Given the description of an element on the screen output the (x, y) to click on. 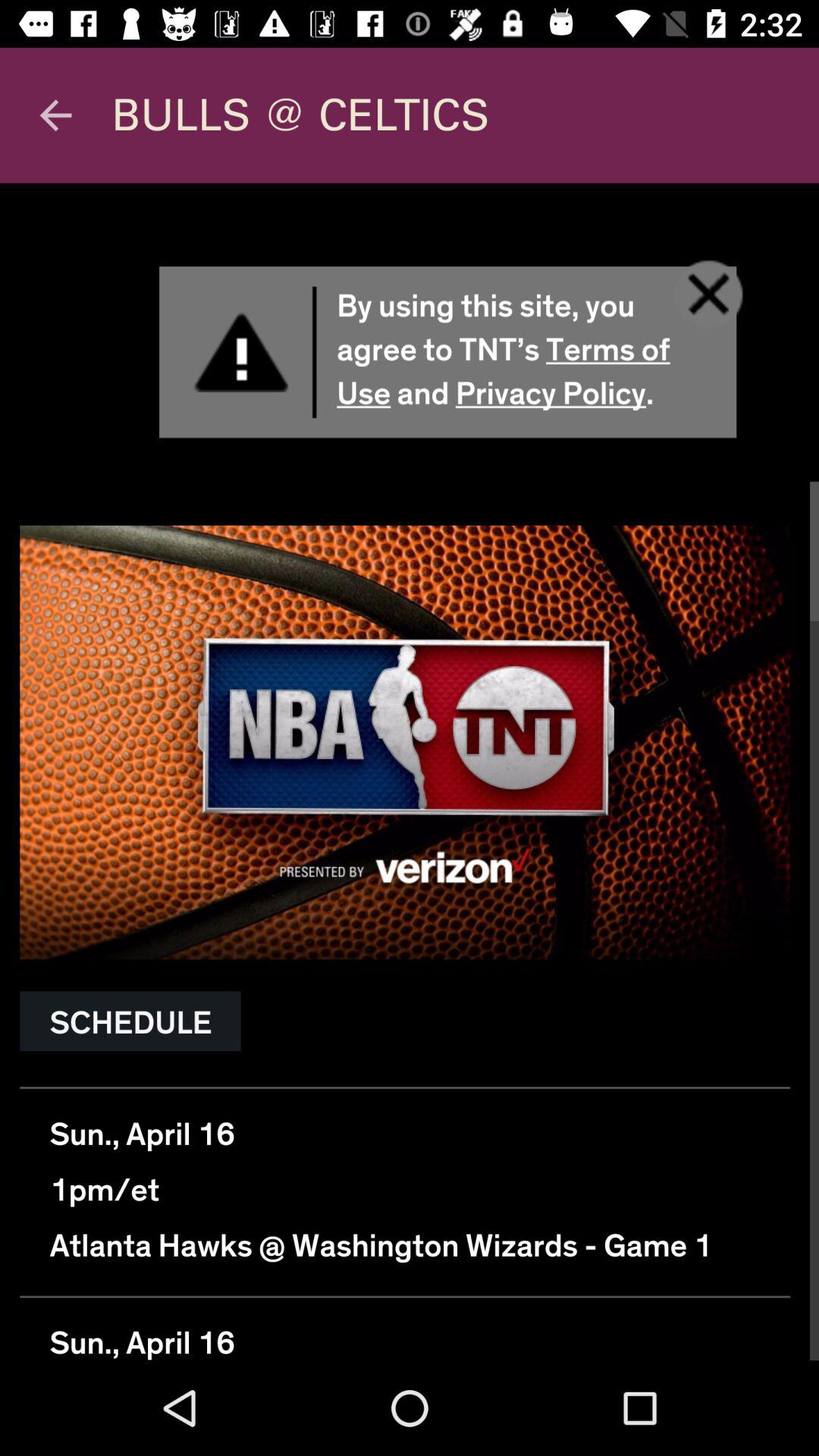
color print page (409, 771)
